Given the description of an element on the screen output the (x, y) to click on. 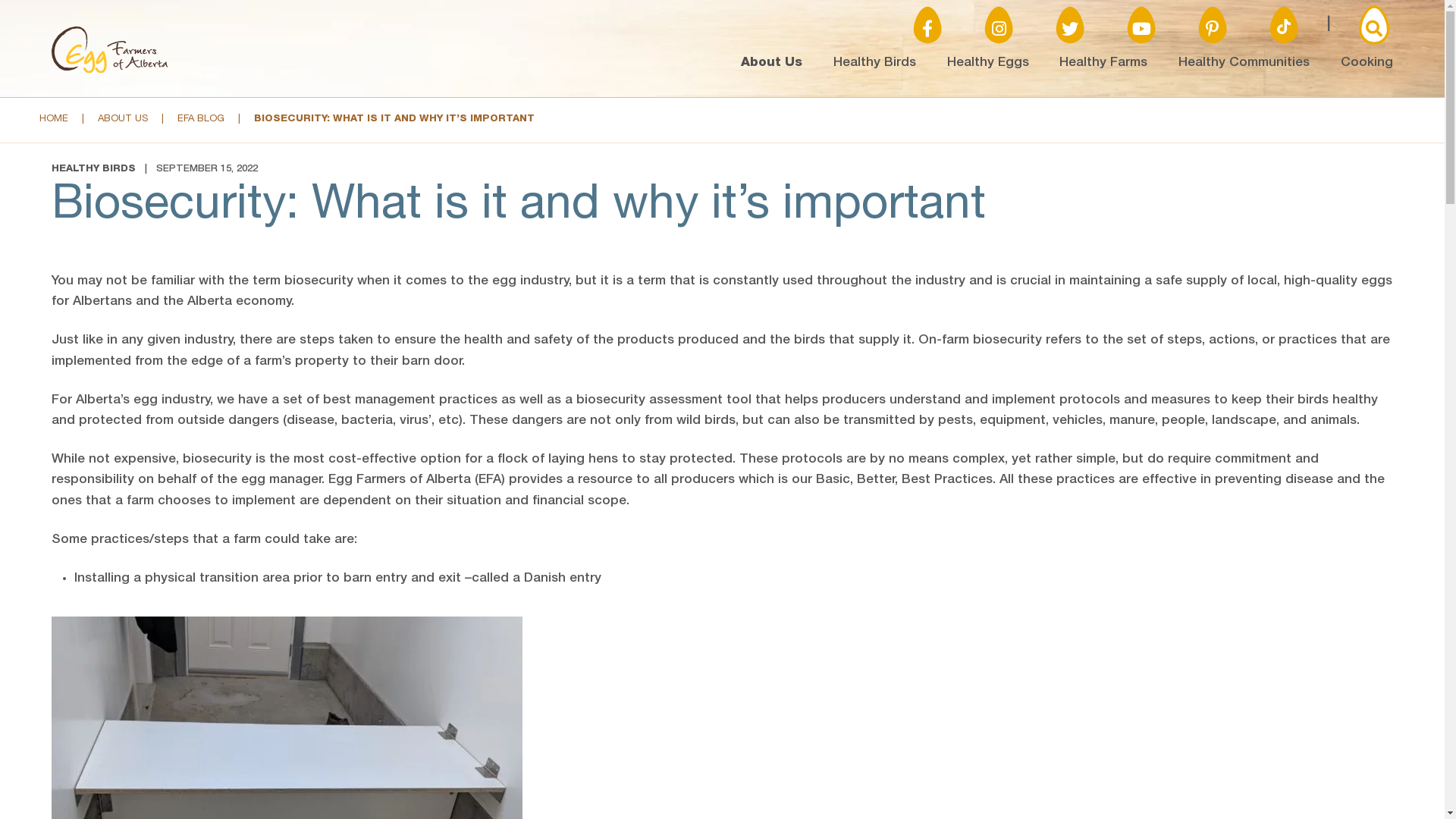
About Us Element type: text (771, 62)
Healthy Birds Element type: text (874, 62)
Healthy Farms Element type: text (1103, 62)
Logo Element type: text (109, 70)
Cooking Element type: text (1366, 62)
ABOUT US Element type: text (122, 119)
Healthy Communities Element type: text (1243, 62)
EFA BLOG Element type: text (200, 119)
HOME Element type: text (53, 119)
Healthy Eggs Element type: text (988, 62)
